Given the description of an element on the screen output the (x, y) to click on. 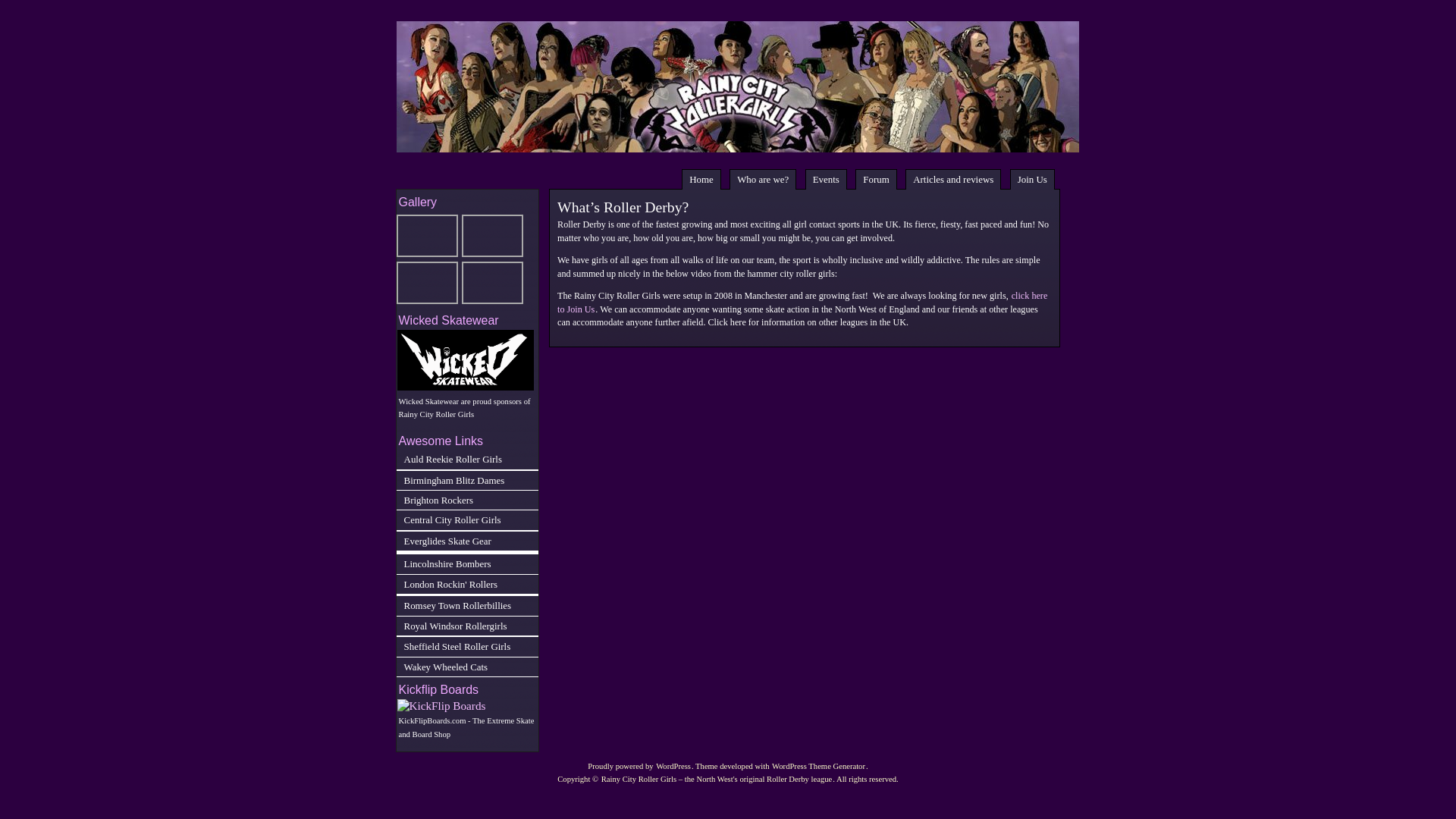
Articles and reviews (953, 178)
Romsey Town Rollerbillies (467, 605)
Auld Reekie Roller Girls, Edinburgh (467, 458)
Home (700, 178)
Wakey Wheeled Cats (467, 666)
Central City Roller Girls, Birmingham (467, 519)
Sheffield Steel Roller Girls (467, 646)
Who are we? (762, 178)
Who are we? (762, 178)
Home (700, 178)
WordPress Theme Generator (818, 766)
Forum (876, 178)
Royal Windsor Rollergirls (467, 625)
rb09 (491, 235)
Auld Reekie Roller Girls (467, 458)
